Given the description of an element on the screen output the (x, y) to click on. 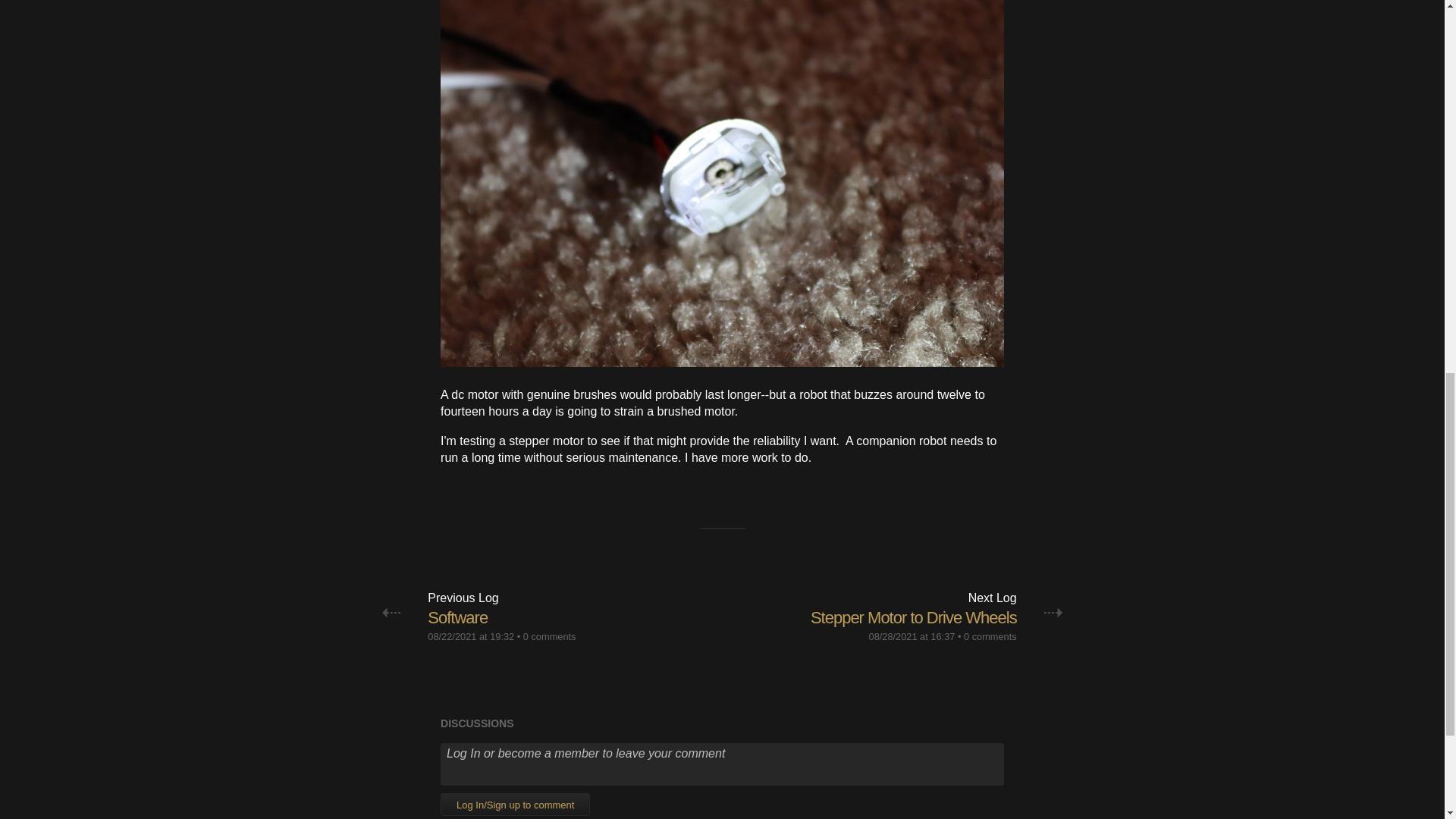
Software (457, 617)
Stepper Motor to Drive Wheels (913, 617)
3 years ago (912, 636)
0 comments (549, 636)
3 years ago (470, 636)
0 comments (989, 636)
